Given the description of an element on the screen output the (x, y) to click on. 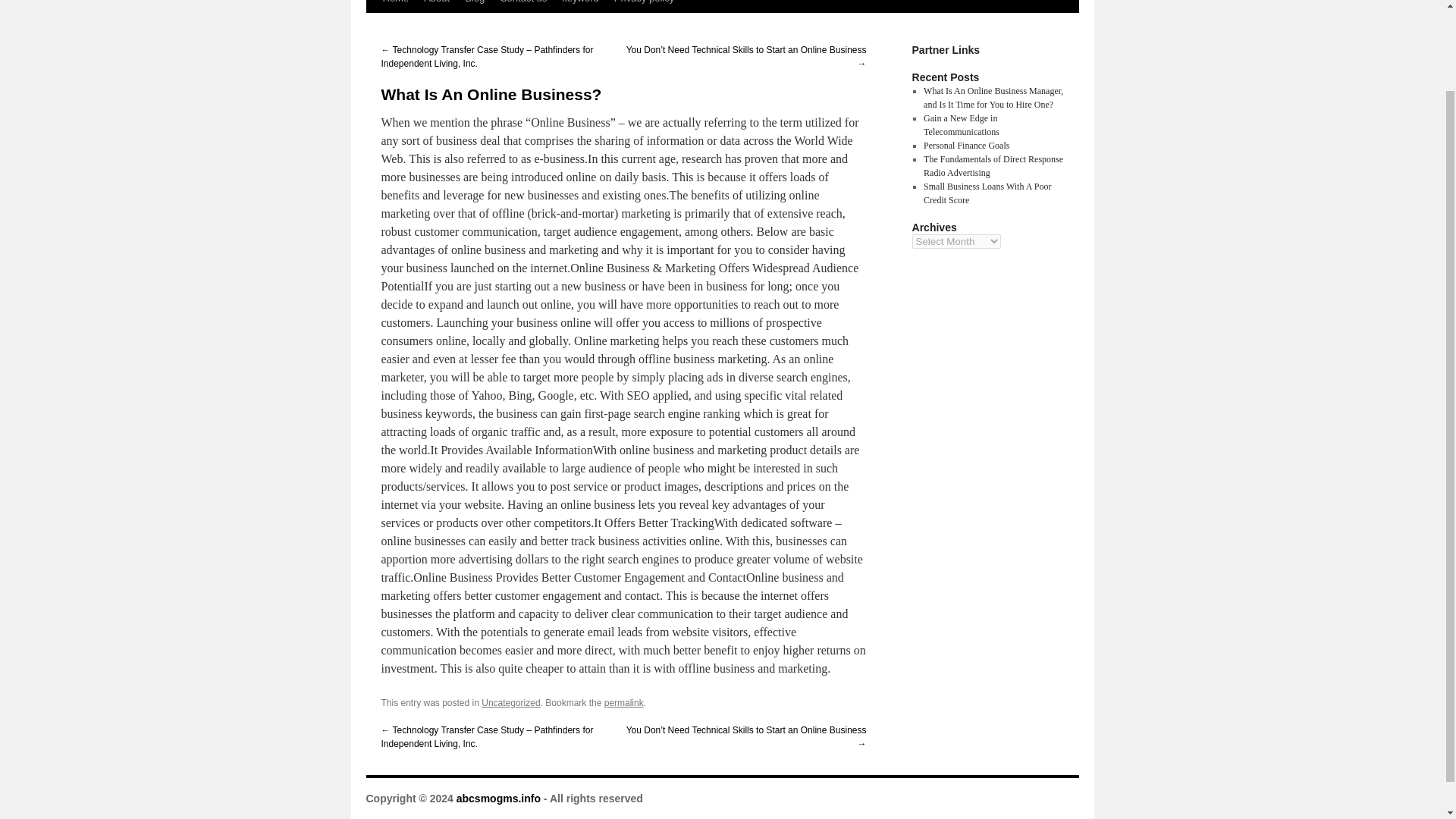
keyword (579, 6)
keyword (579, 6)
permalink (623, 702)
Contact us (523, 6)
Contact us (523, 6)
abcsmogms.info (498, 798)
The Fundamentals of Direct Response Radio Advertising (992, 165)
Skip to content (372, 35)
Skip to content (372, 35)
Privacy policy (644, 6)
Privacy policy (644, 6)
About (436, 6)
Uncategorized (510, 702)
Small Business Loans With A Poor Credit Score (987, 192)
